Given the description of an element on the screen output the (x, y) to click on. 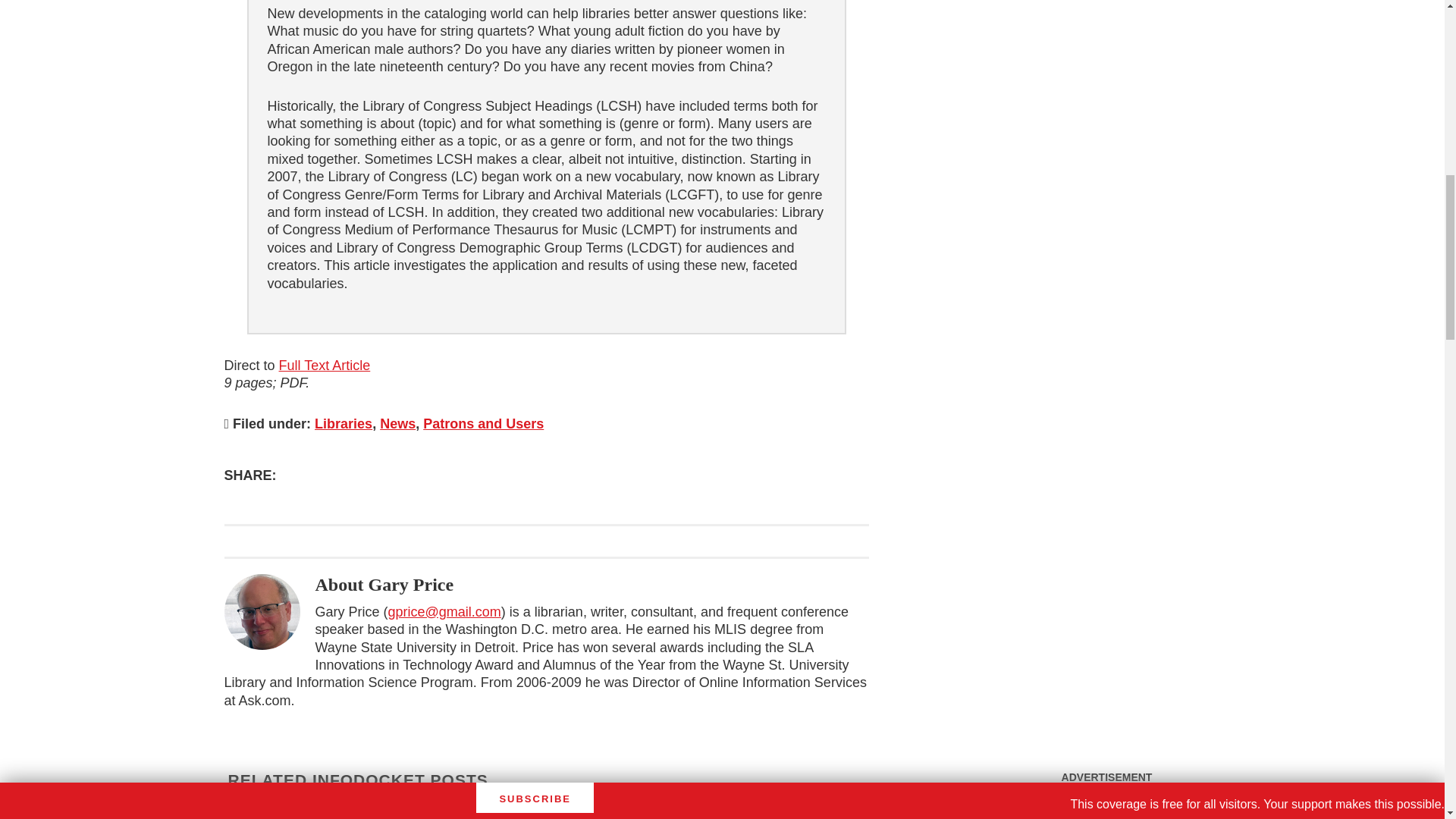
3rd party ad content (1106, 91)
3rd party ad content (1106, 805)
